Given the description of an element on the screen output the (x, y) to click on. 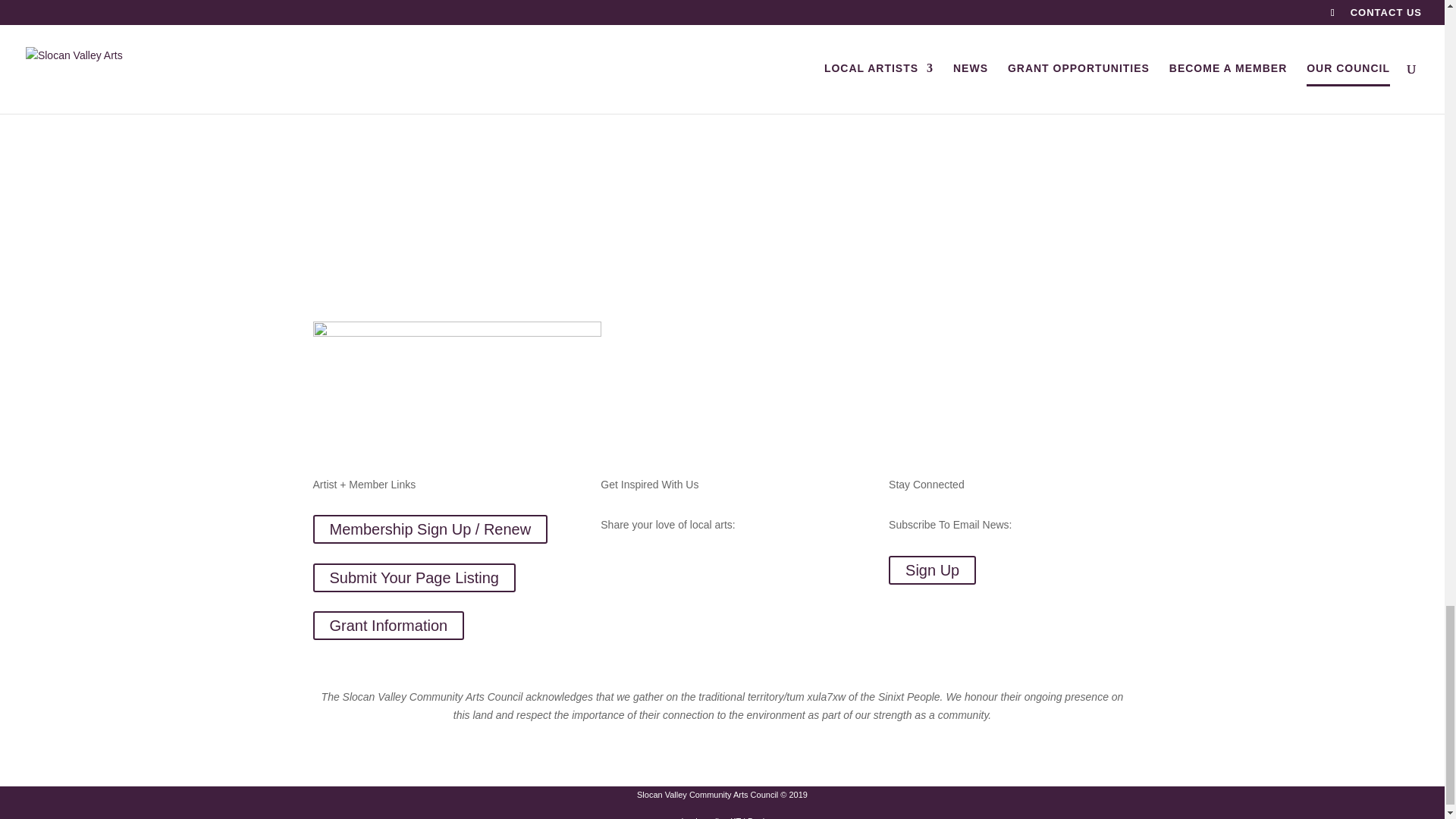
Become An Arts Member (413, 86)
Sign Up (931, 570)
Grant Information (388, 624)
Submit Your Page Listing (414, 577)
